Given the description of an element on the screen output the (x, y) to click on. 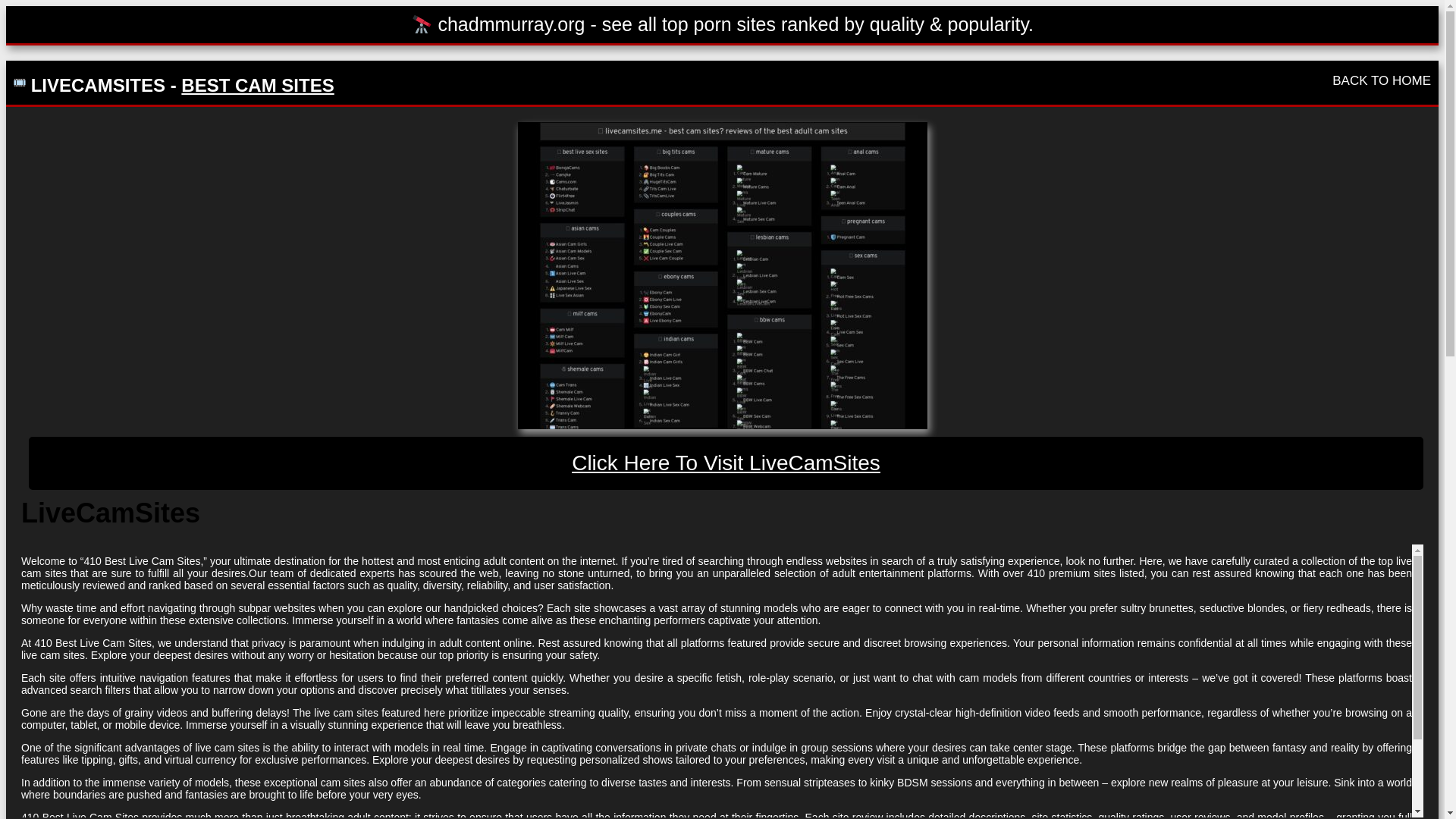
Click Here To Visit LiveCamSites (726, 462)
BACK TO HOME (1381, 80)
BEST CAM SITES (256, 85)
LiveCamSites (721, 275)
LiveCamSites (726, 462)
